Given the description of an element on the screen output the (x, y) to click on. 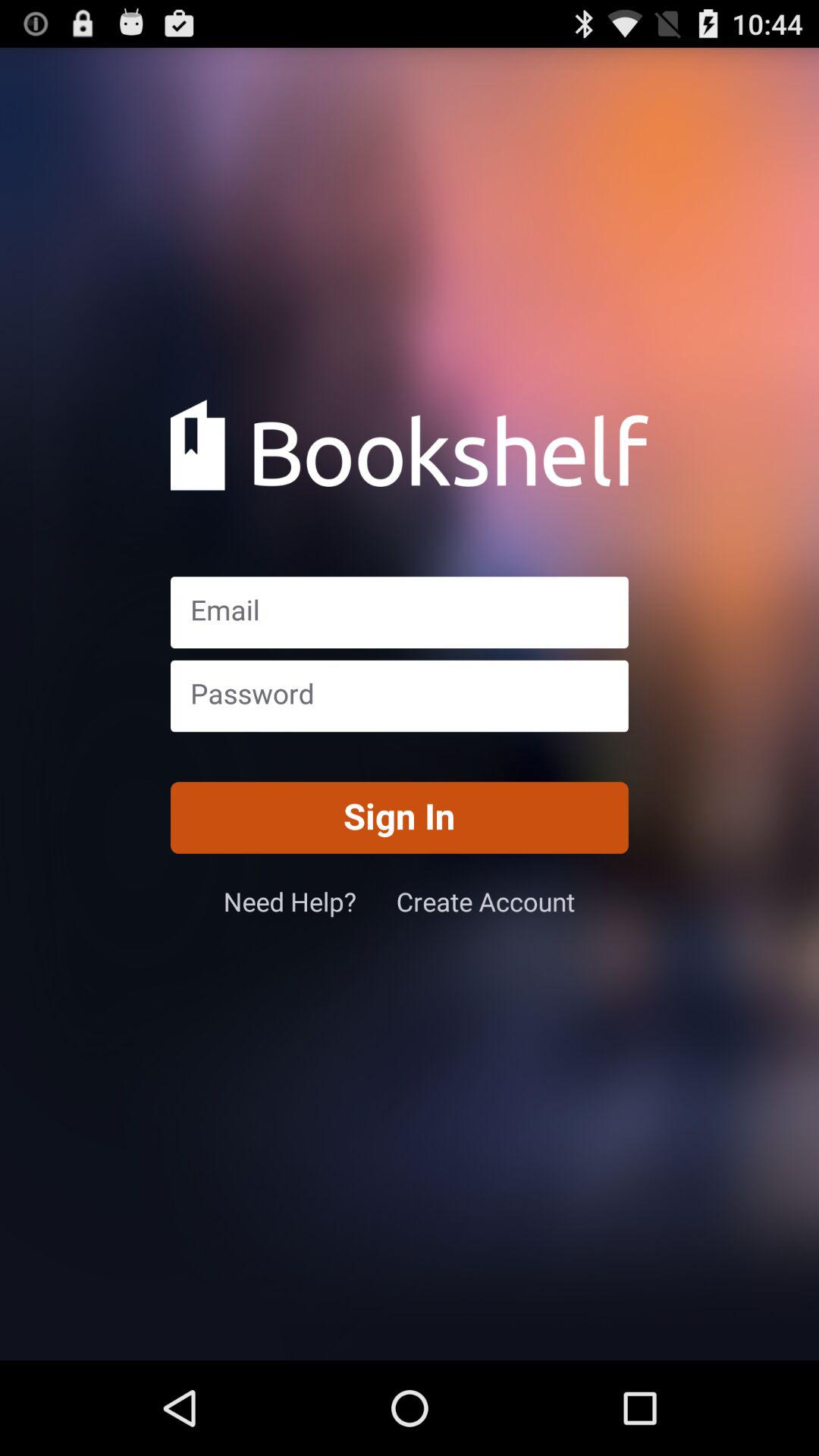
choose icon next to need help? button (485, 901)
